Given the description of an element on the screen output the (x, y) to click on. 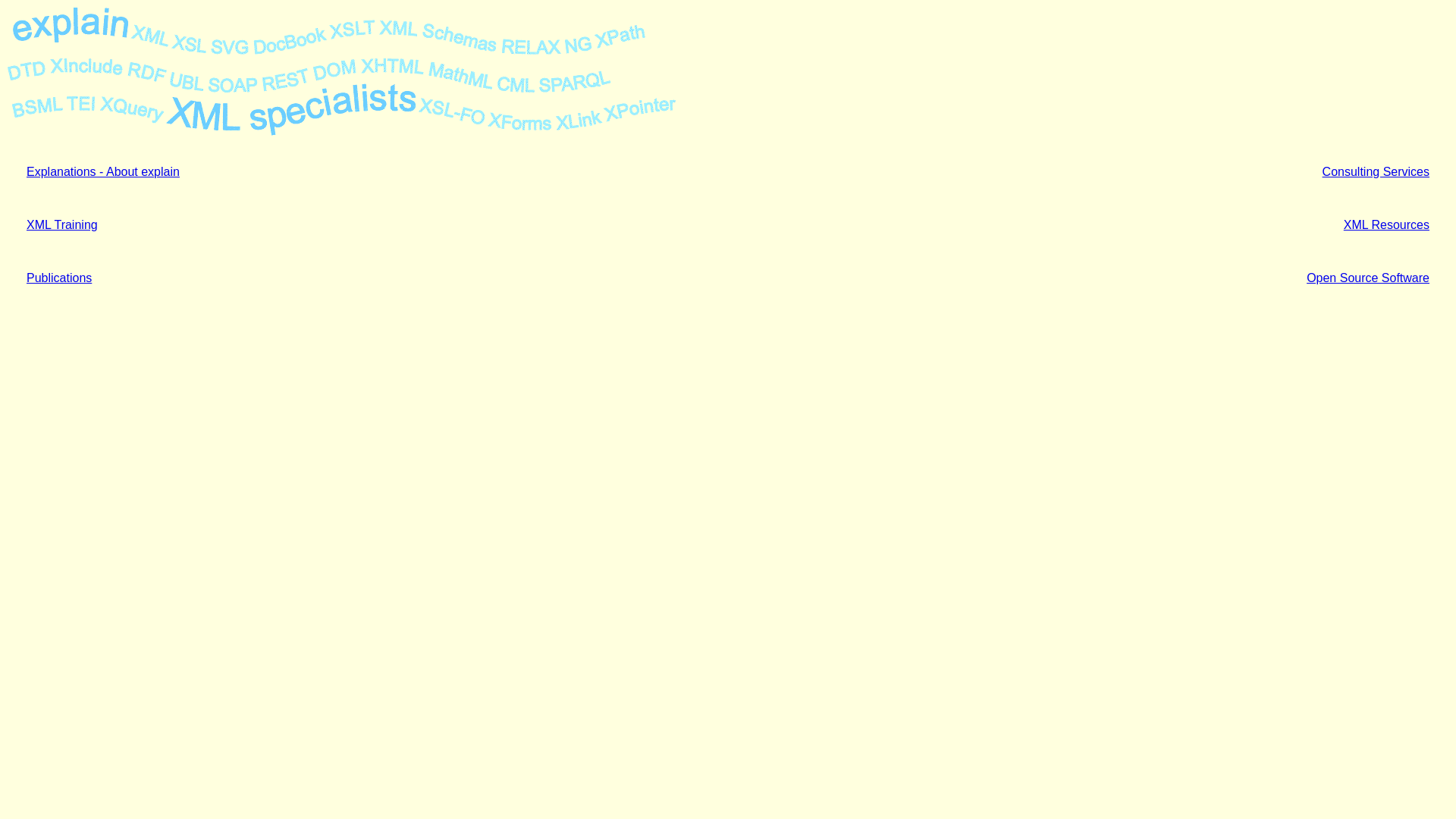
XML Training Element type: text (61, 224)
XML Resources Element type: text (1386, 224)
Explanations - About explain Element type: text (102, 171)
Open Source Software Element type: text (1367, 277)
Publications Element type: text (58, 277)
Consulting Services Element type: text (1375, 171)
